Given the description of an element on the screen output the (x, y) to click on. 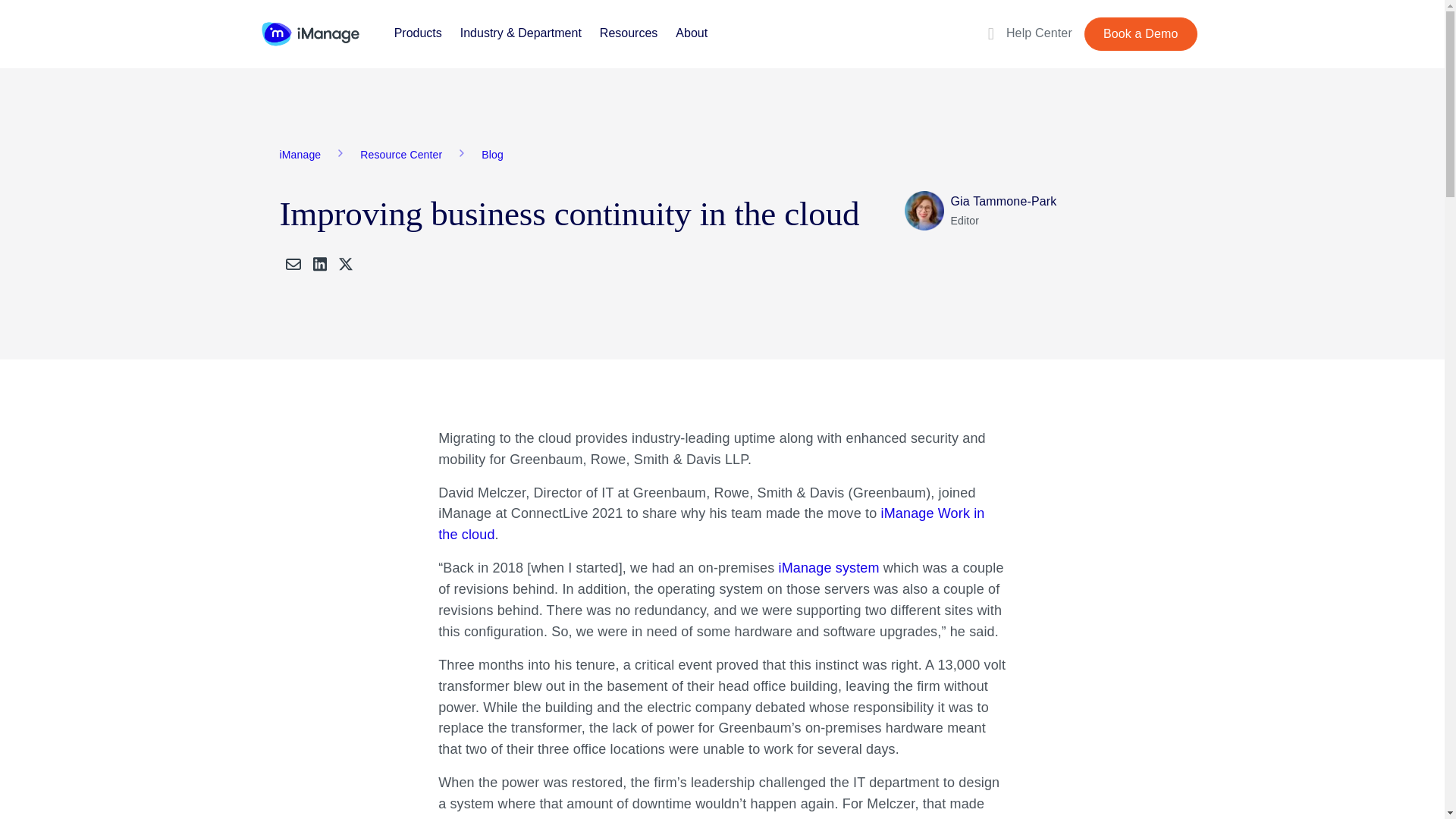
Products (418, 31)
The iManage Platform (828, 567)
iManage (309, 33)
Cloud (711, 524)
